Given the description of an element on the screen output the (x, y) to click on. 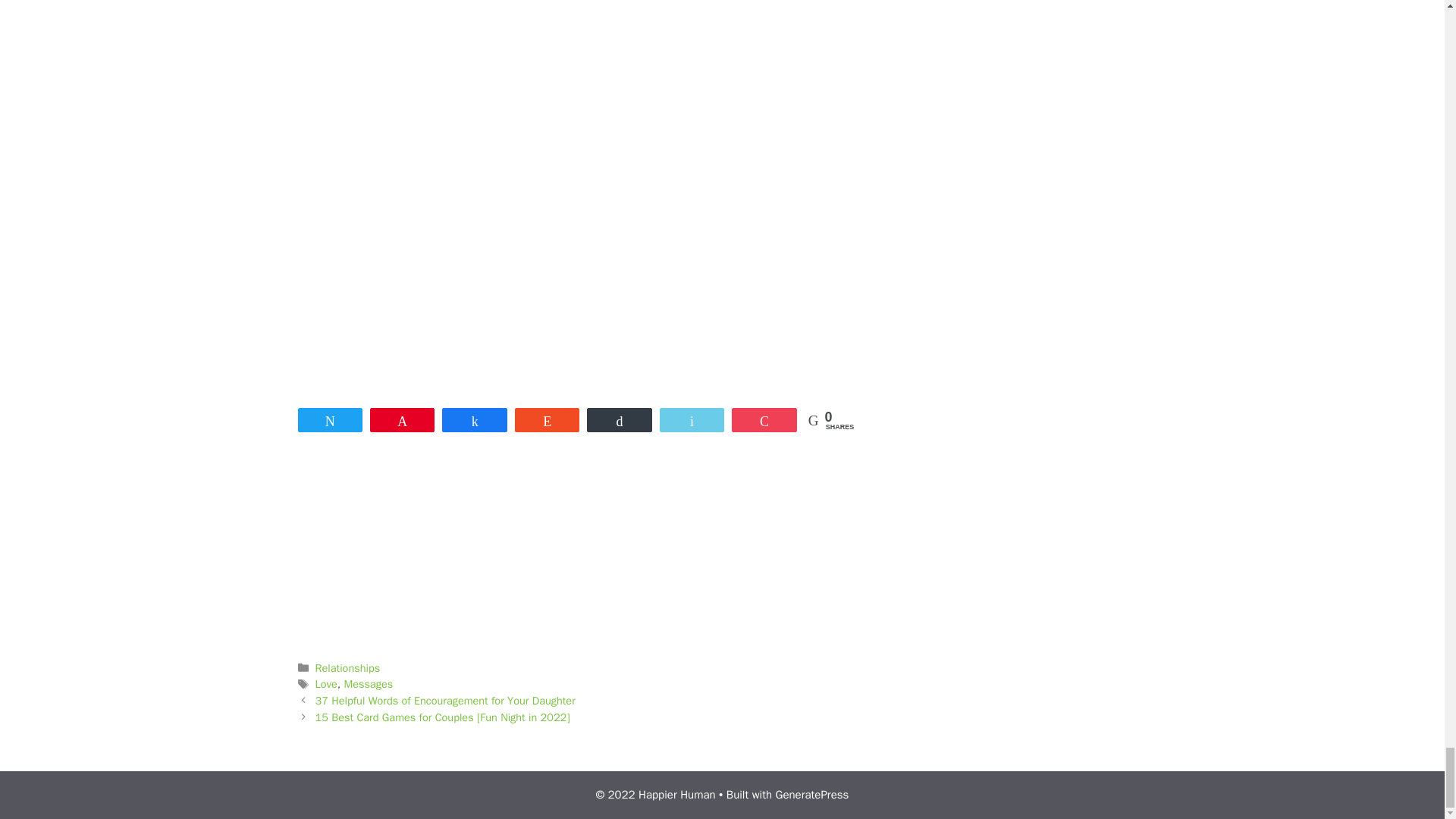
Next (442, 716)
Previous (445, 700)
